Given the description of an element on the screen output the (x, y) to click on. 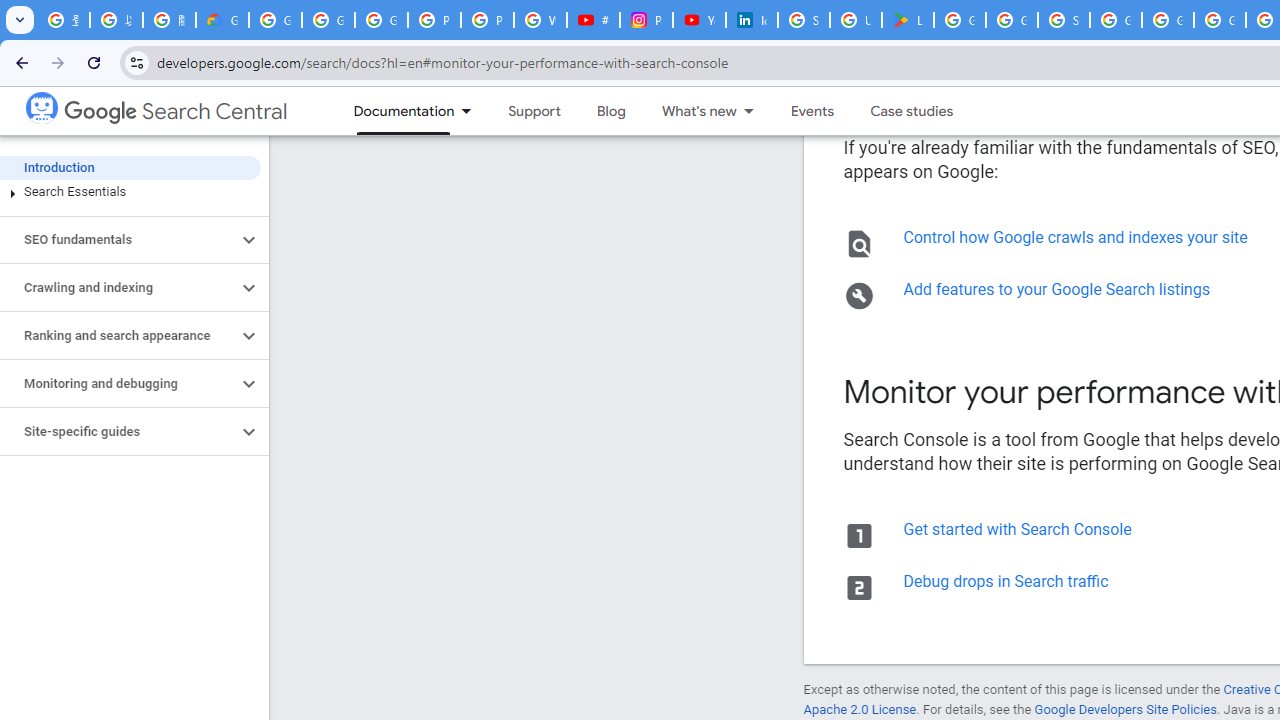
Google Search Central (41, 106)
Debug drops in Search traffic (1005, 581)
Case studies (911, 111)
Privacy Help Center - Policies Help (487, 20)
